Given the description of an element on the screen output the (x, y) to click on. 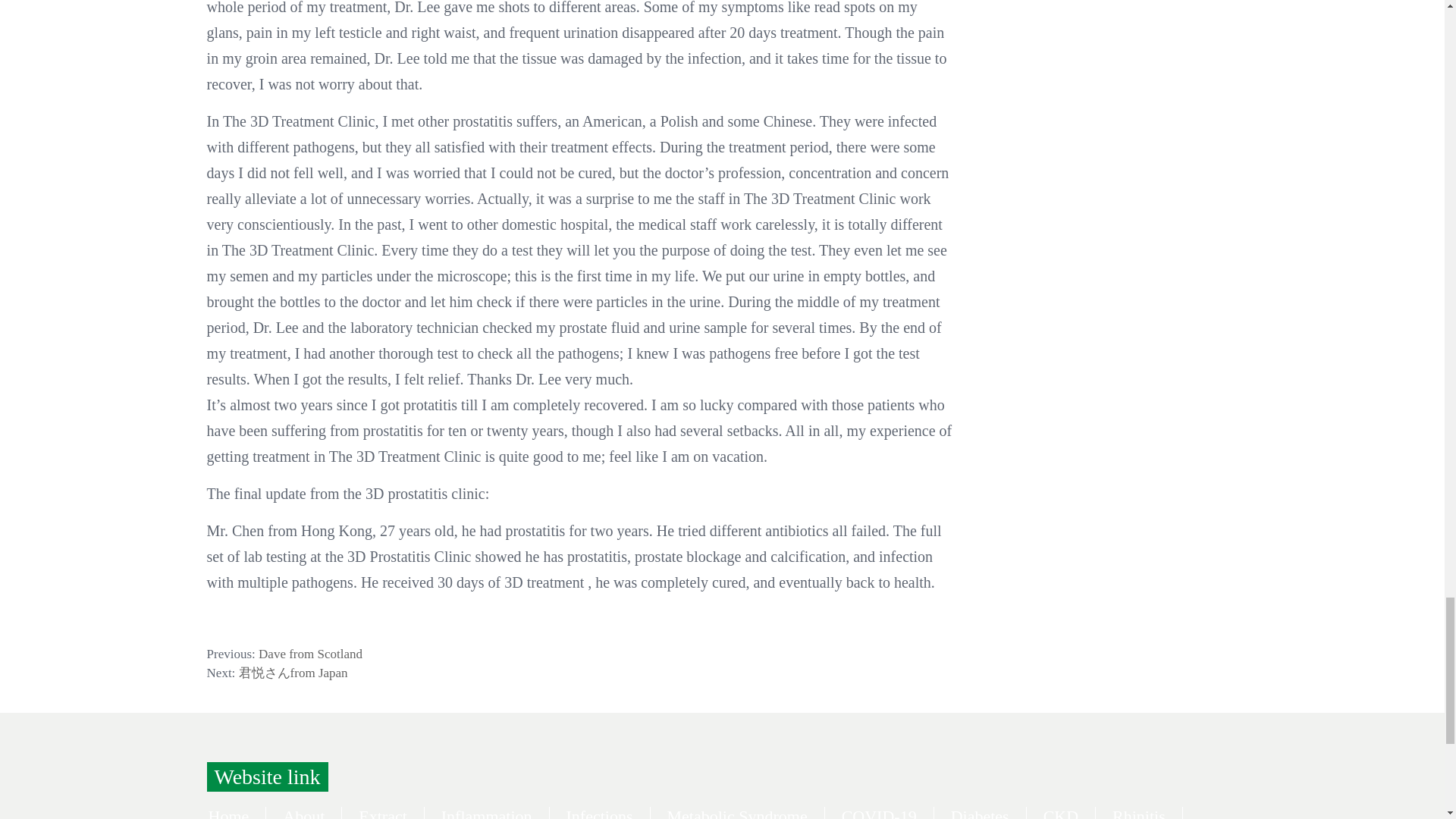
COVID-19 (879, 812)
Extract (382, 812)
About (303, 812)
Infections (599, 812)
Dave from Scotland (310, 653)
Home (227, 812)
Inflammation (486, 812)
Metabolic Syndrome (737, 812)
